Given the description of an element on the screen output the (x, y) to click on. 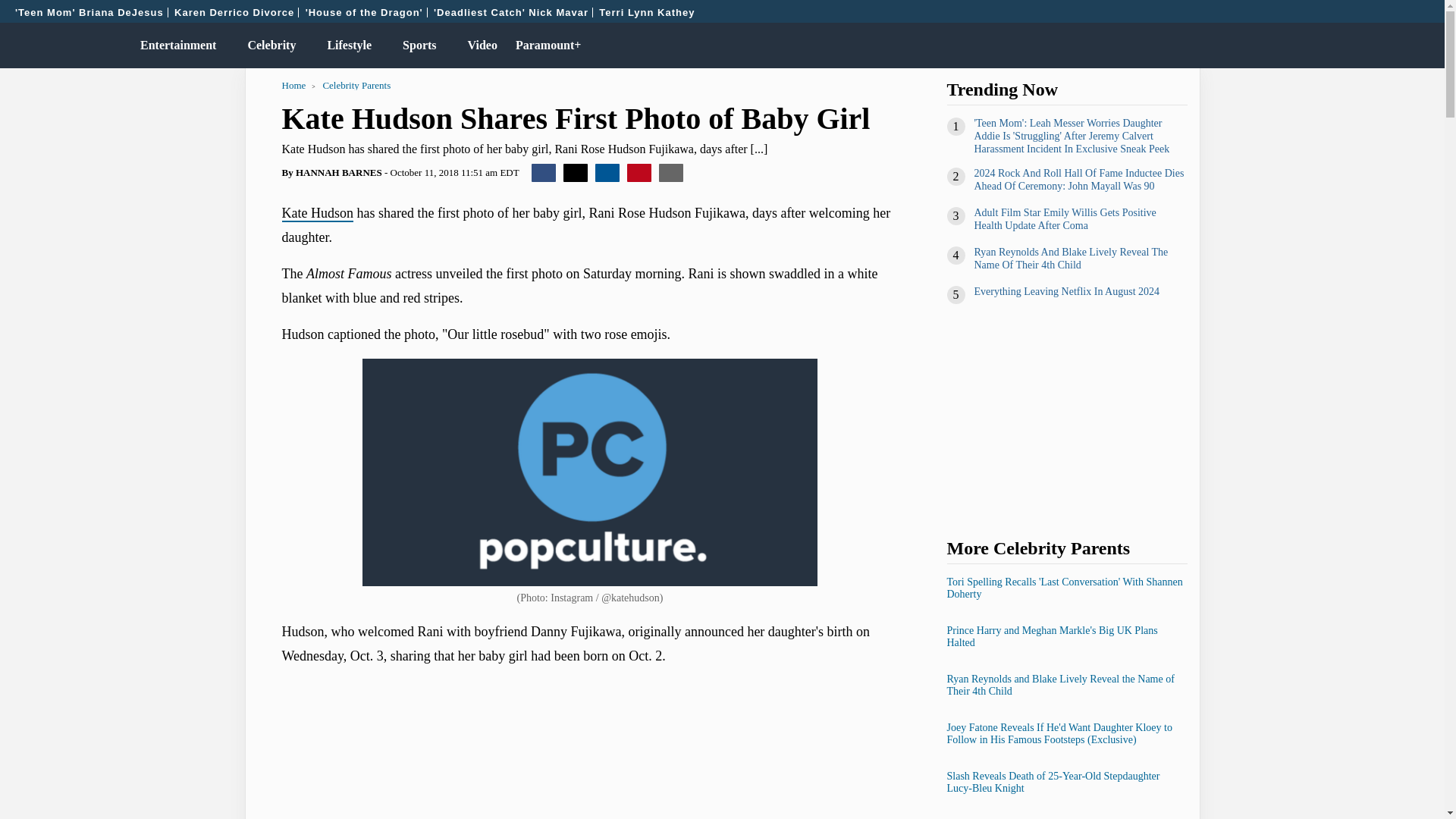
Sports (416, 45)
Entertainment (175, 45)
Karen Derrico Divorce (234, 12)
kate-hudson-daughter-Rani-Rose-Hudson-Fujikawa (589, 472)
Terri Lynn Kathey (646, 12)
'House of the Dragon' (363, 12)
'Deadliest Catch' Nick Mavar (510, 12)
Video (479, 45)
Search (1426, 46)
Dark Mode (1394, 45)
Celebrity (267, 45)
Lifestyle (345, 45)
'Teen Mom' Briana DeJesus (89, 12)
3rd party ad content (590, 716)
